Given the description of an element on the screen output the (x, y) to click on. 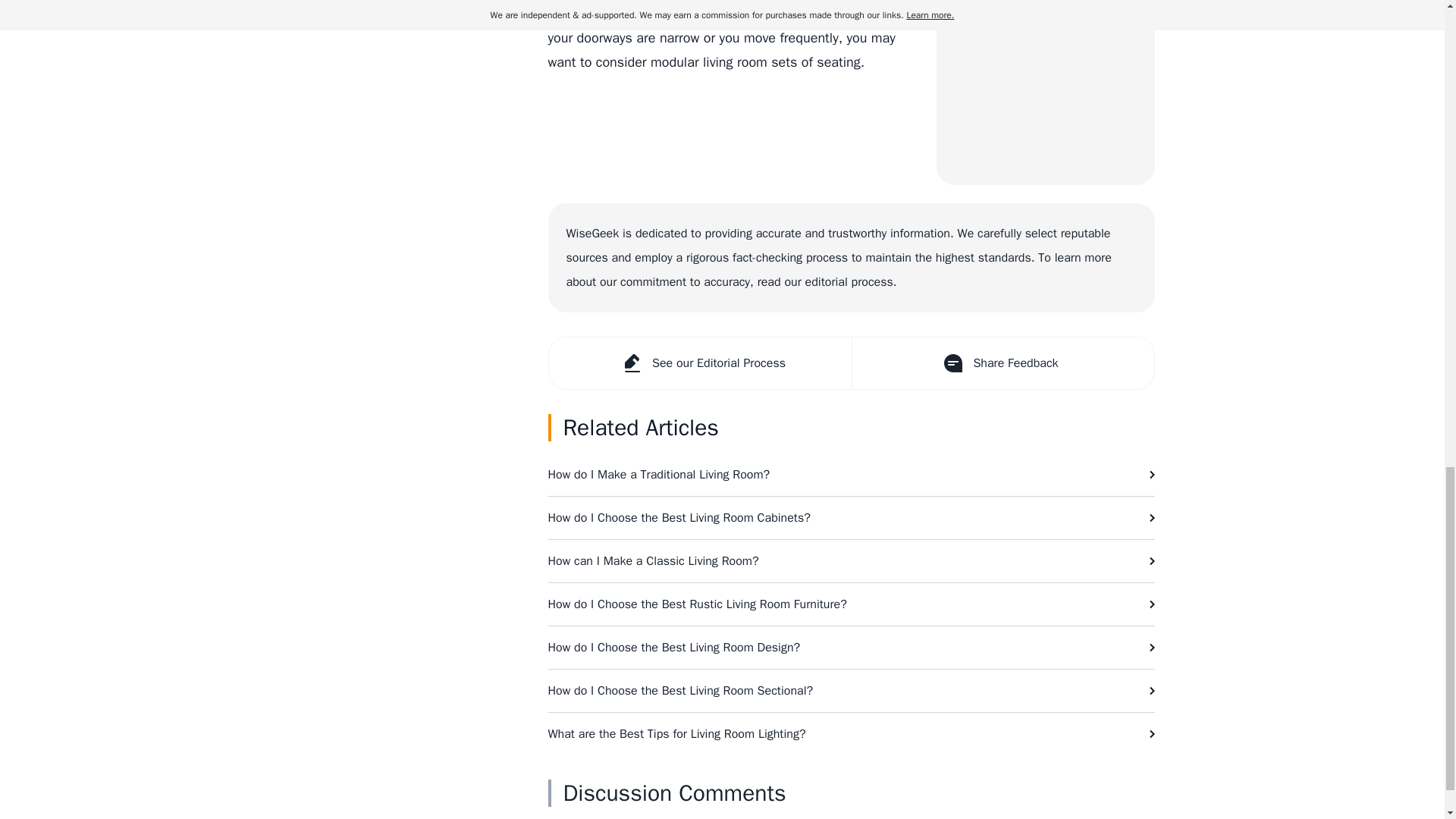
See our Editorial Process (699, 363)
How do I Choose the Best Living Room Sectional? (850, 690)
Share Feedback (1001, 363)
How do I Choose the Best Living Room Cabinets? (850, 517)
What are the Best Tips for Living Room Lighting? (850, 733)
How can I Make a Classic Living Room? (850, 560)
How do I Make a Traditional Living Room? (850, 474)
How do I Choose the Best Living Room Design? (850, 647)
How do I Choose the Best Rustic Living Room Furniture? (850, 604)
